Given the description of an element on the screen output the (x, y) to click on. 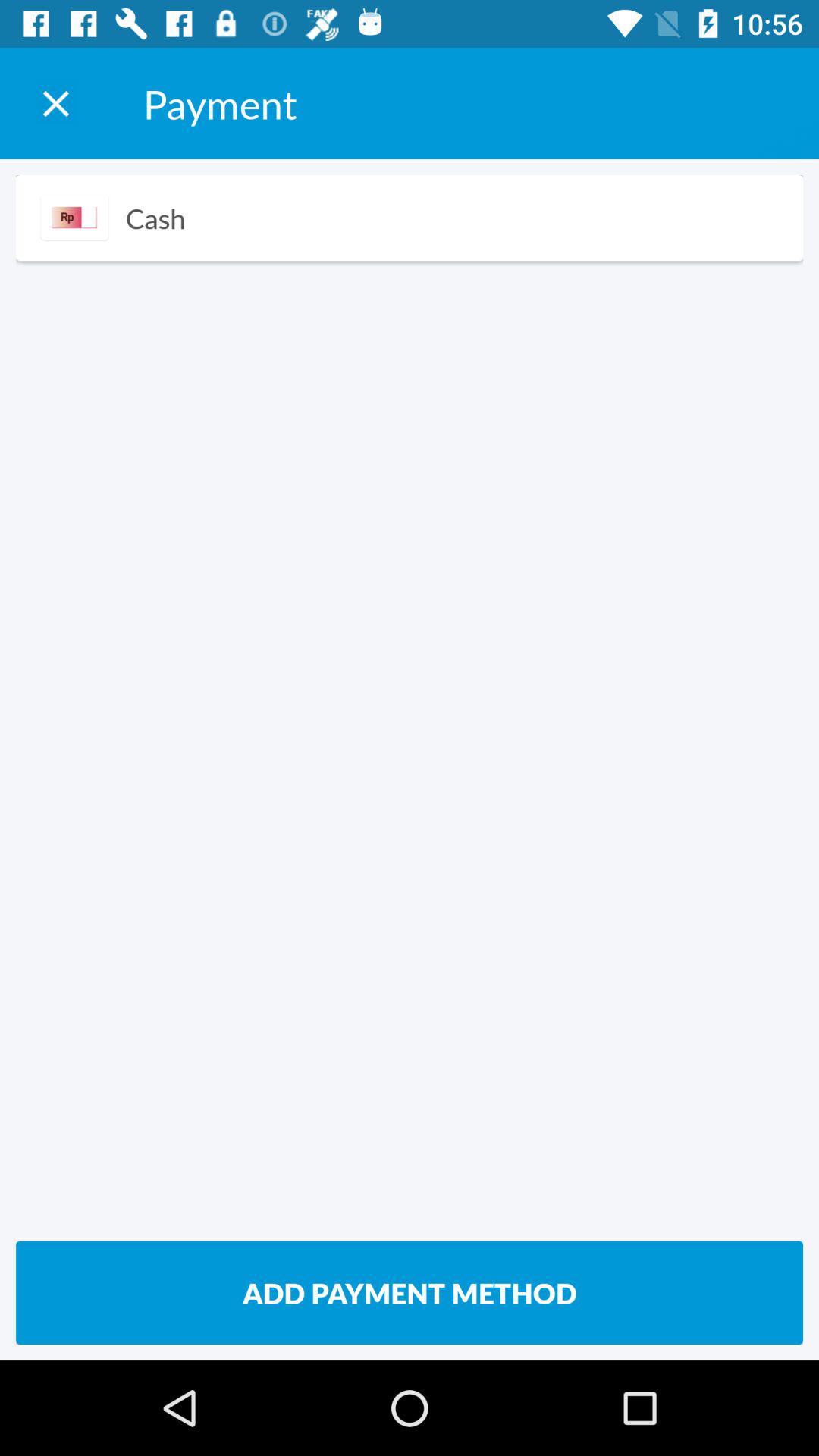
open the item next to the payment (55, 103)
